Given the description of an element on the screen output the (x, y) to click on. 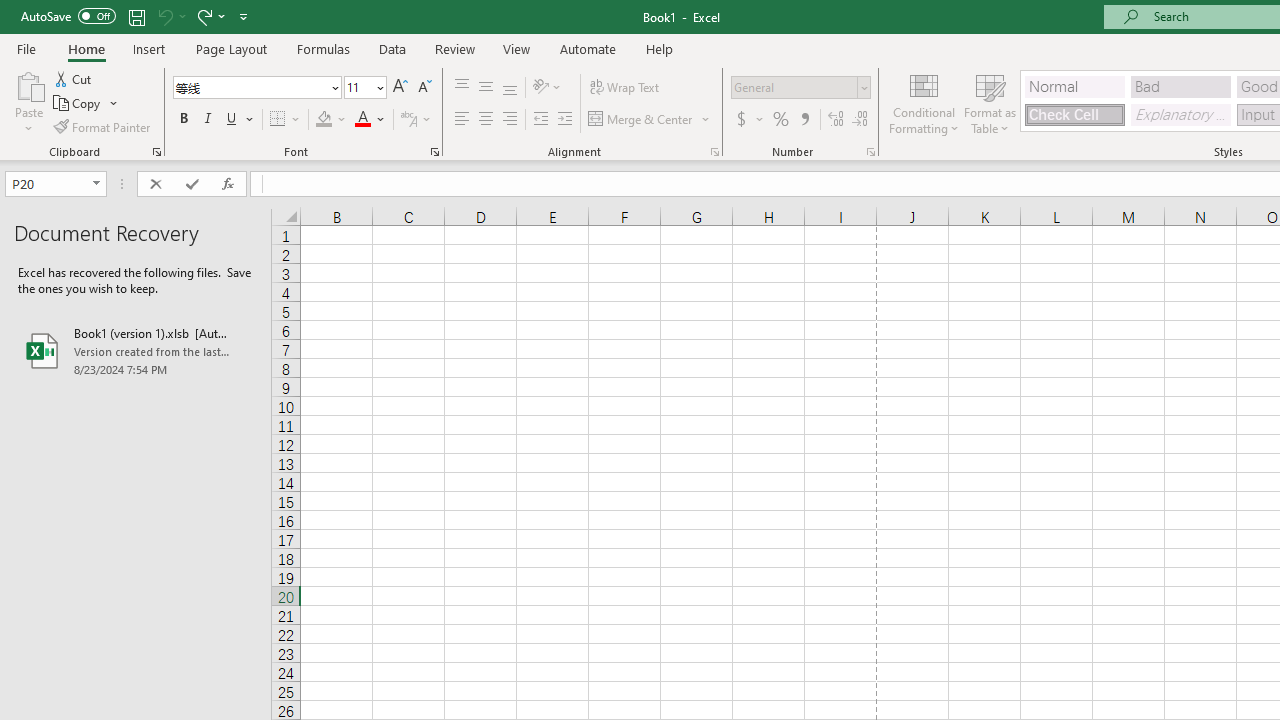
Redo (209, 15)
Paste (28, 84)
Bold (183, 119)
Increase Decimal (836, 119)
Conditional Formatting (924, 102)
Help (660, 48)
Quick Access Toolbar (136, 16)
Cut (73, 78)
Font (256, 87)
Copy (85, 103)
Middle Align (485, 87)
Fill Color (331, 119)
Review (454, 48)
File Tab (26, 48)
